Given the description of an element on the screen output the (x, y) to click on. 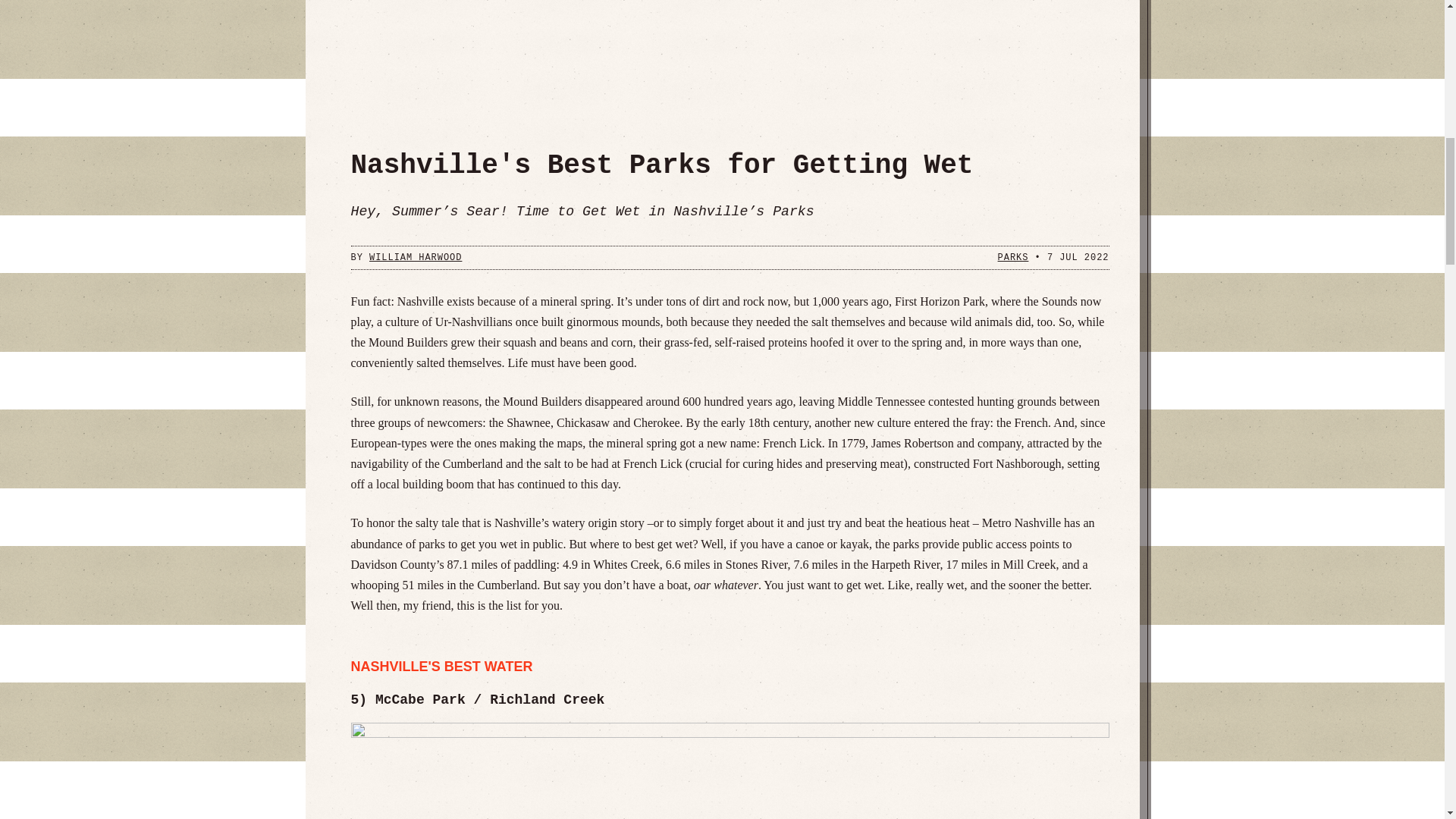
WILLIAM HARWOOD (415, 257)
PARKS (1013, 257)
